Given the description of an element on the screen output the (x, y) to click on. 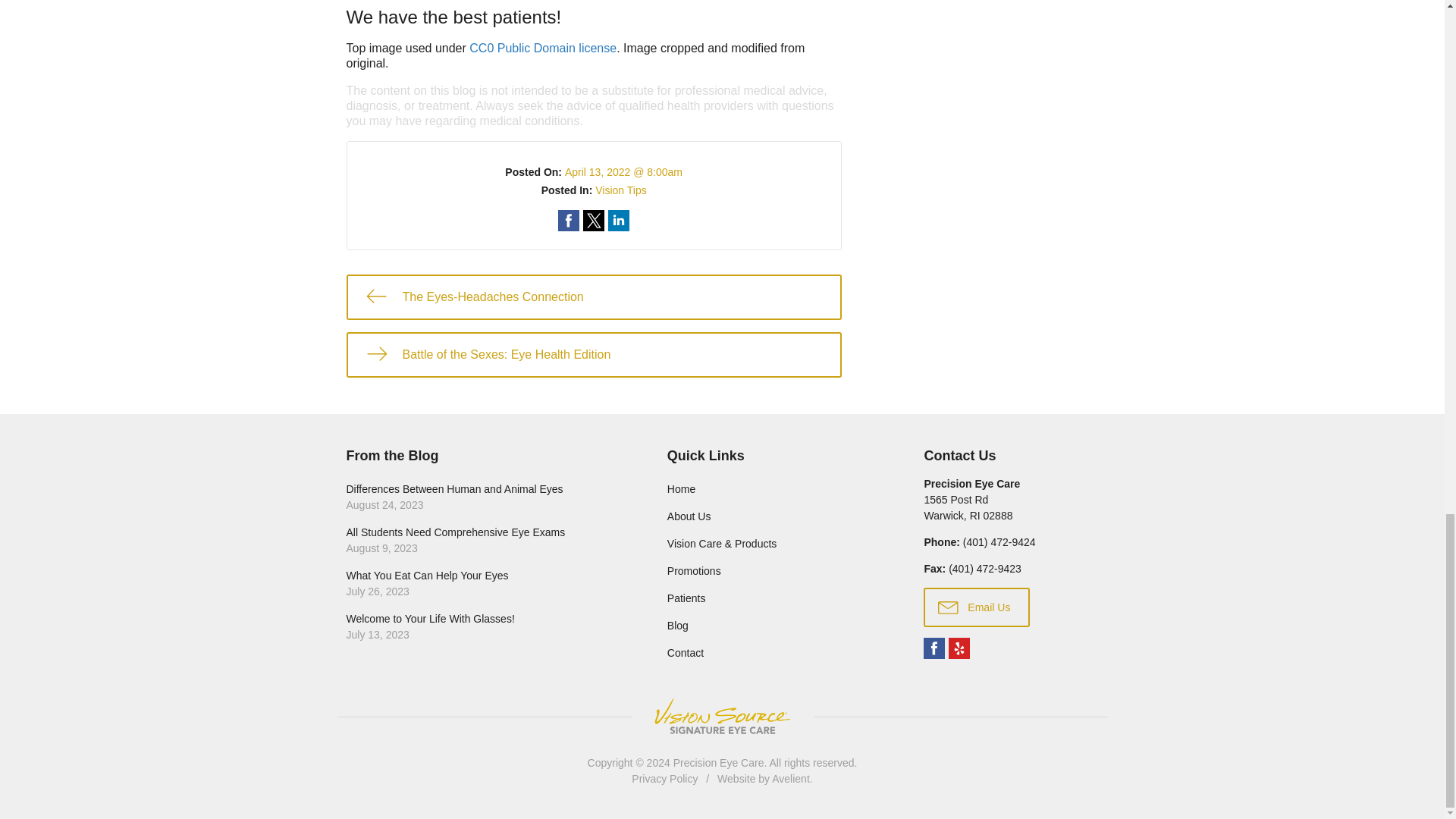
Contact practice (998, 541)
Share on Twitter (593, 219)
Share on Facebook (568, 219)
Share on LinkedIn (618, 219)
Share on Twitter (593, 219)
Battle of the Sexes: Eye Health Edition (593, 354)
Powered by Avelient (790, 778)
Open this address in Google Maps (967, 507)
Go to our Facebook Page (933, 648)
Share on LinkedIn (618, 219)
CC0 Public Domain license (541, 47)
Share on Facebook (568, 219)
Vision Tips (620, 190)
The Eyes-Headaches Connection (593, 297)
Go to our Yelp Page (959, 648)
